Given the description of an element on the screen output the (x, y) to click on. 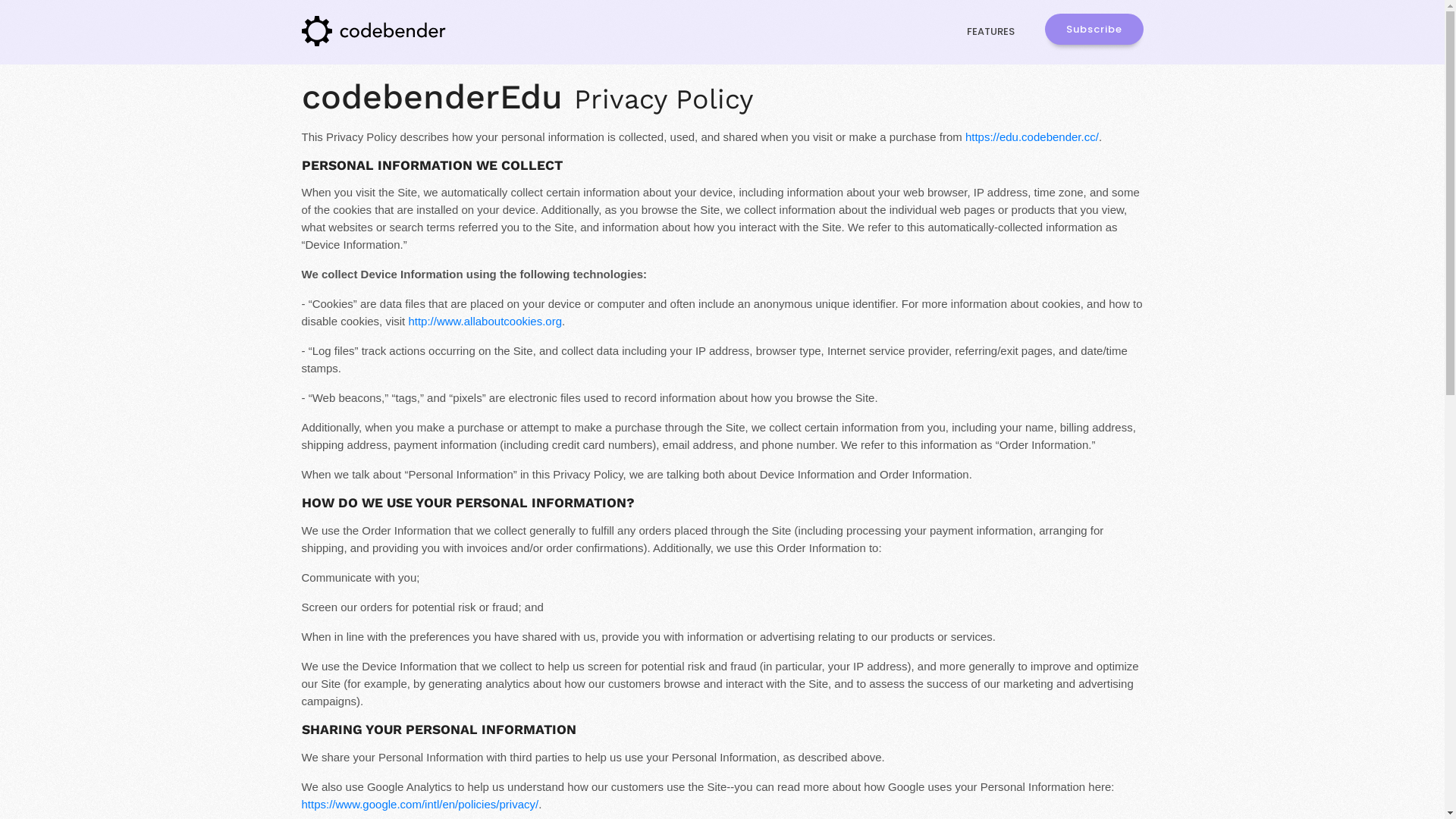
http://www.allaboutcookies.org Element type: text (484, 320)
FEATURES Element type: text (989, 31)
https://www.google.com/intl/en/policies/privacy/ Element type: text (420, 803)
Subscribe Element type: text (1093, 28)
https://edu.codebender.cc/ Element type: text (1031, 136)
